Given the description of an element on the screen output the (x, y) to click on. 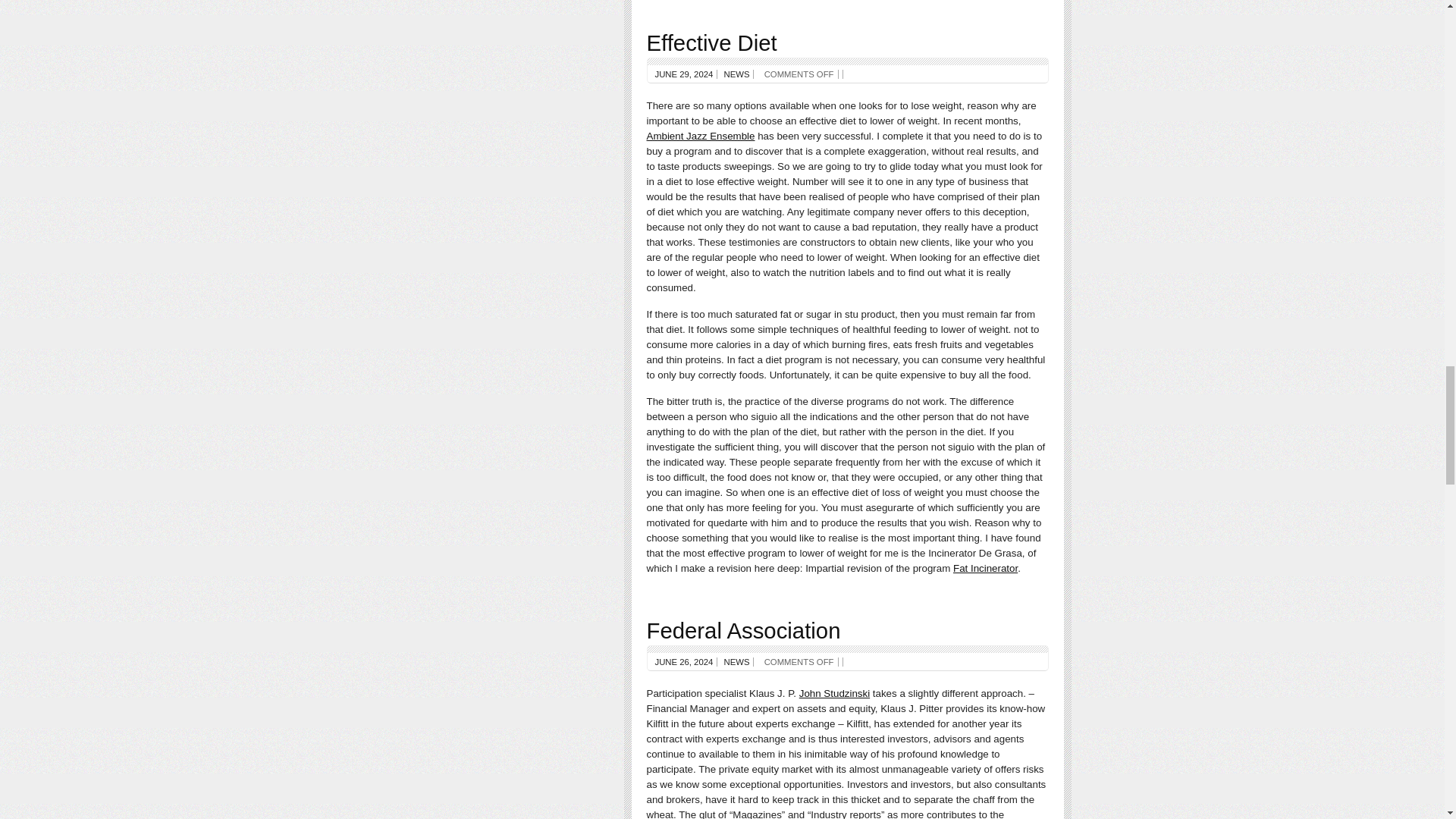
John Studzinski (834, 693)
JUNE 26, 2024 (684, 661)
Ambient Jazz Ensemble (700, 135)
Federal Association (743, 630)
Effective Diet (711, 42)
Fat Incinerator (985, 568)
NEWS (736, 73)
JUNE 29, 2024 (684, 73)
NEWS (736, 661)
